Given the description of an element on the screen output the (x, y) to click on. 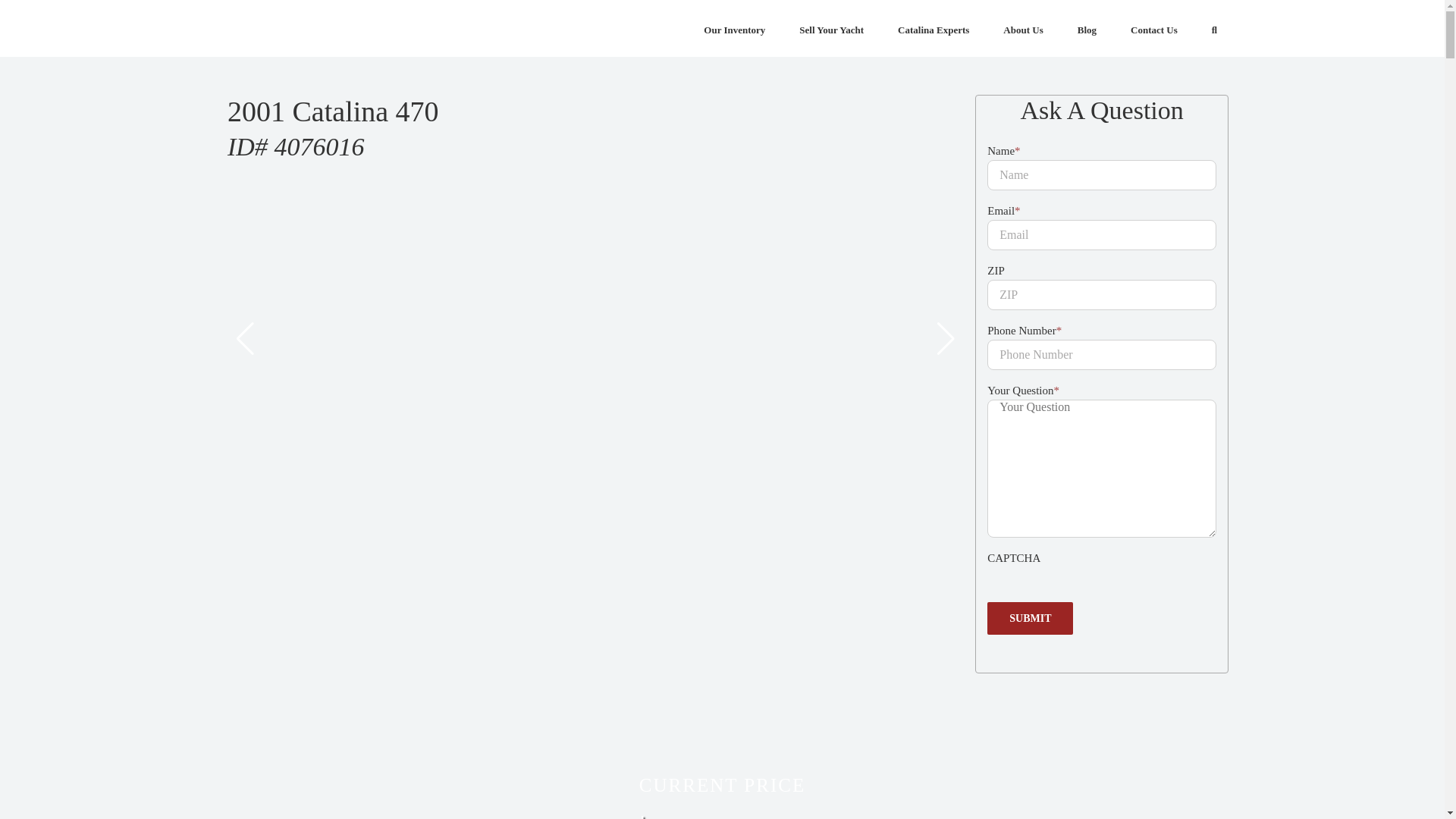
Sell Your Yacht (831, 28)
Our Inventory (734, 28)
Submit (1030, 617)
Catalina Experts (933, 28)
